Given the description of an element on the screen output the (x, y) to click on. 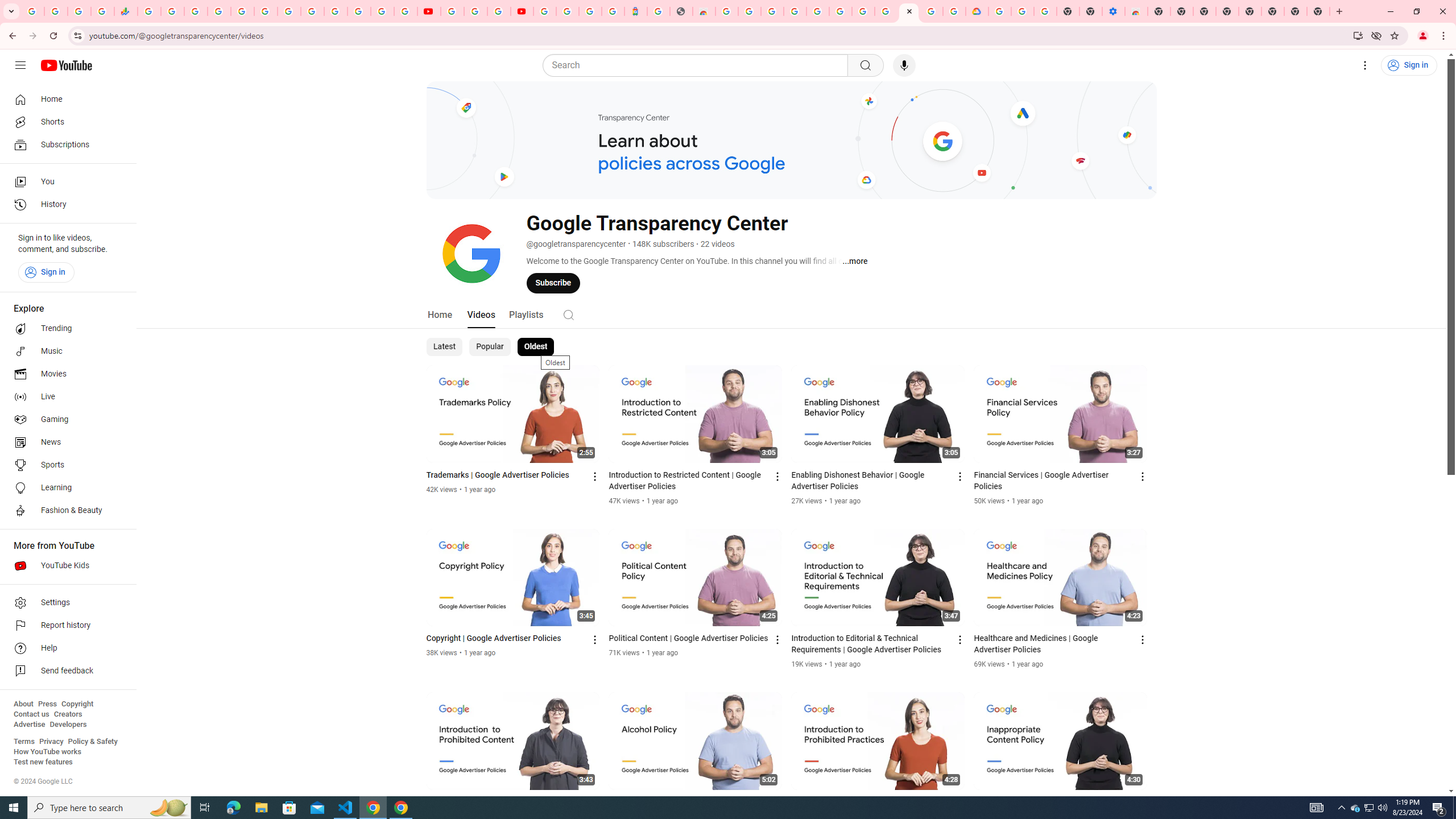
Create your Google Account (931, 11)
Settings - Accessibility (1113, 11)
Movies (64, 373)
Trending (64, 328)
Browse the Google Chrome Community - Google Chrome Community (954, 11)
Sign in - Google Accounts (545, 11)
Sign in - Google Accounts (381, 11)
Live (64, 396)
Action menu (1142, 802)
Send feedback (64, 671)
